Given the description of an element on the screen output the (x, y) to click on. 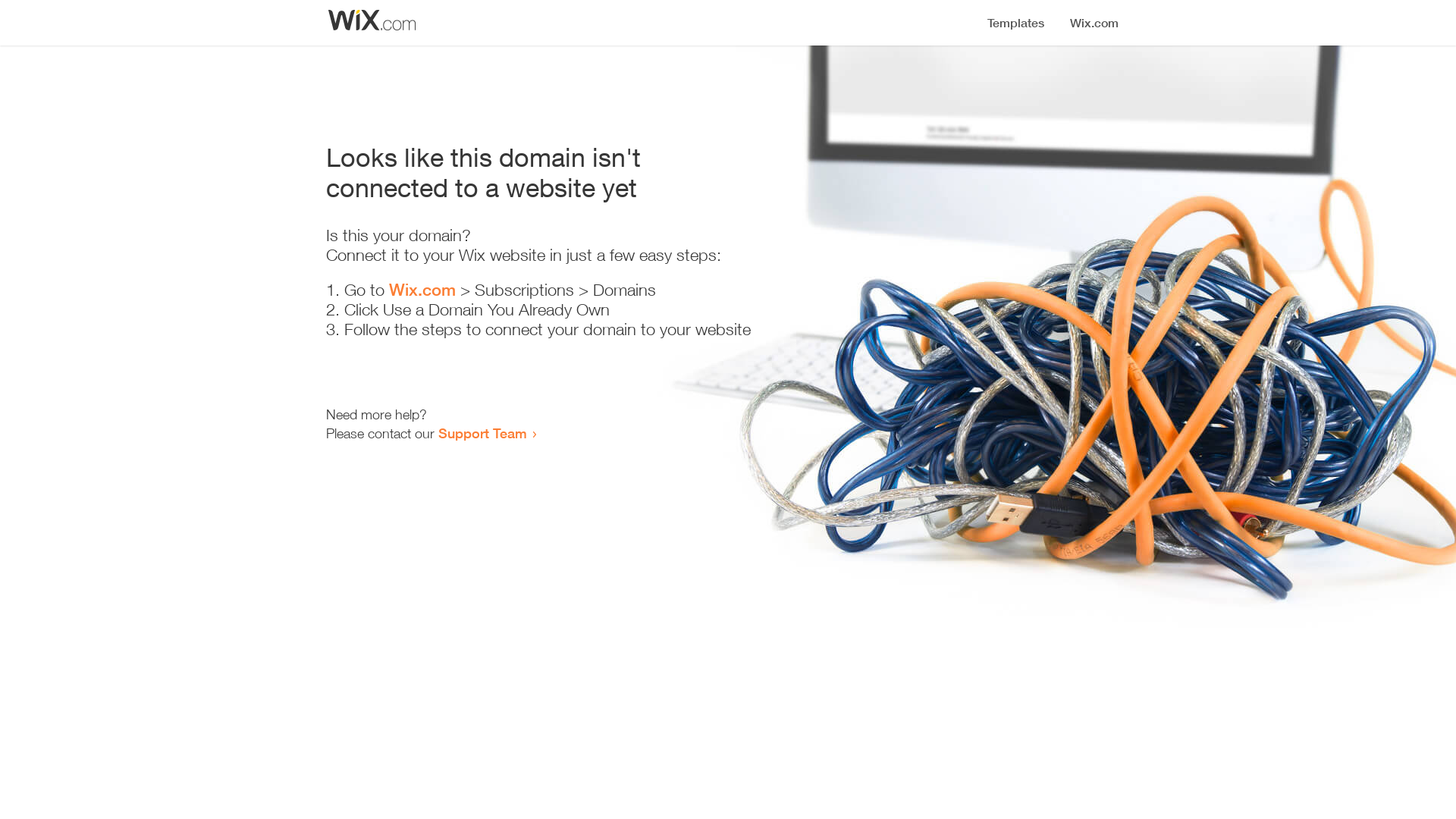
Support Team Element type: text (482, 432)
Wix.com Element type: text (422, 289)
